Given the description of an element on the screen output the (x, y) to click on. 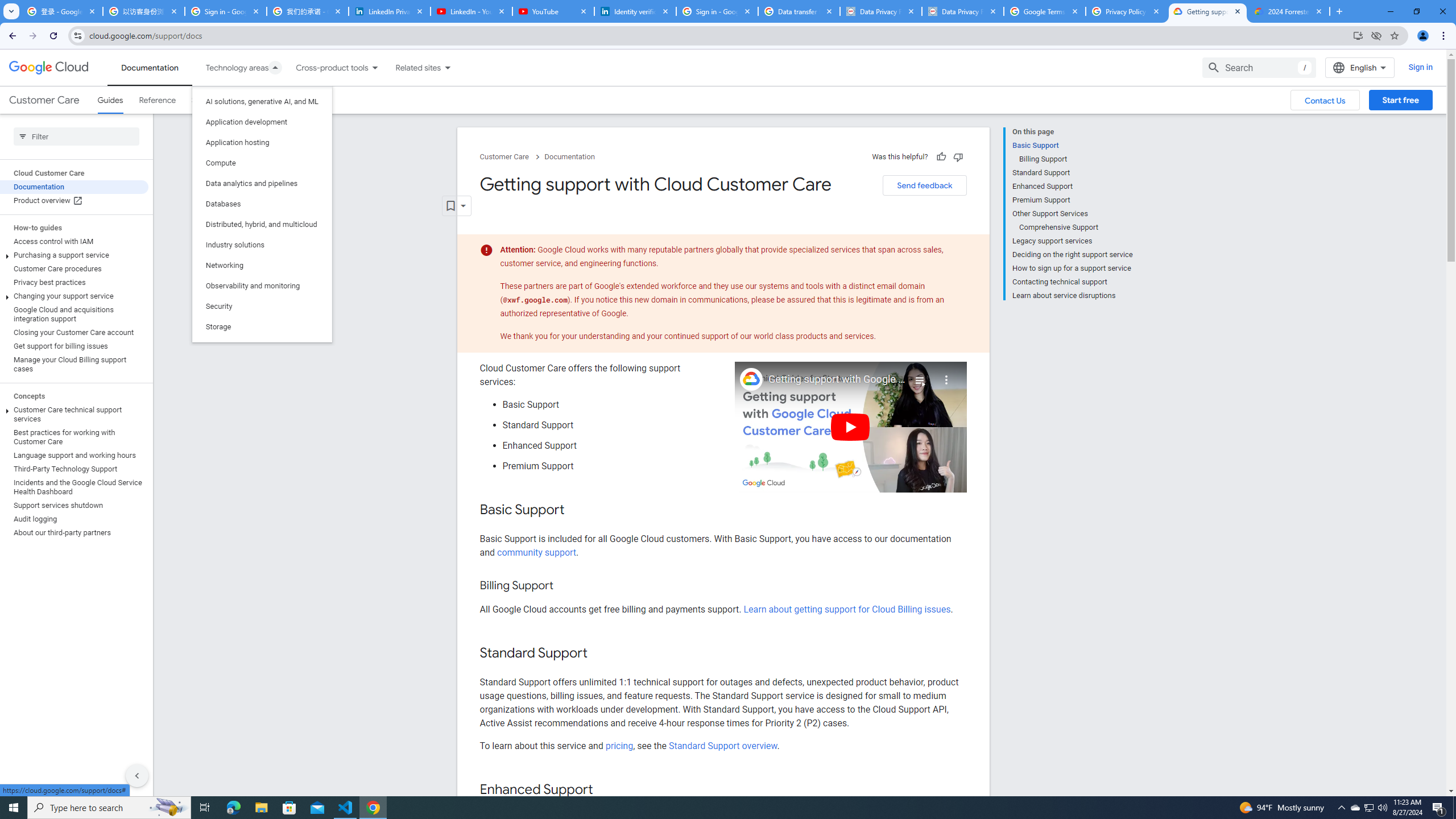
Copy link to this section: Basic Support (576, 510)
Closing your Customer Care account (74, 332)
Play (850, 426)
Google Cloud and acquisitions integration support (74, 314)
Incidents and the Google Cloud Service Health Dashboard (74, 486)
Changing your support service (74, 296)
Privacy best practices (74, 282)
LinkedIn - YouTube (470, 11)
Learn about getting support for Cloud Billing issues (847, 609)
